Given the description of an element on the screen output the (x, y) to click on. 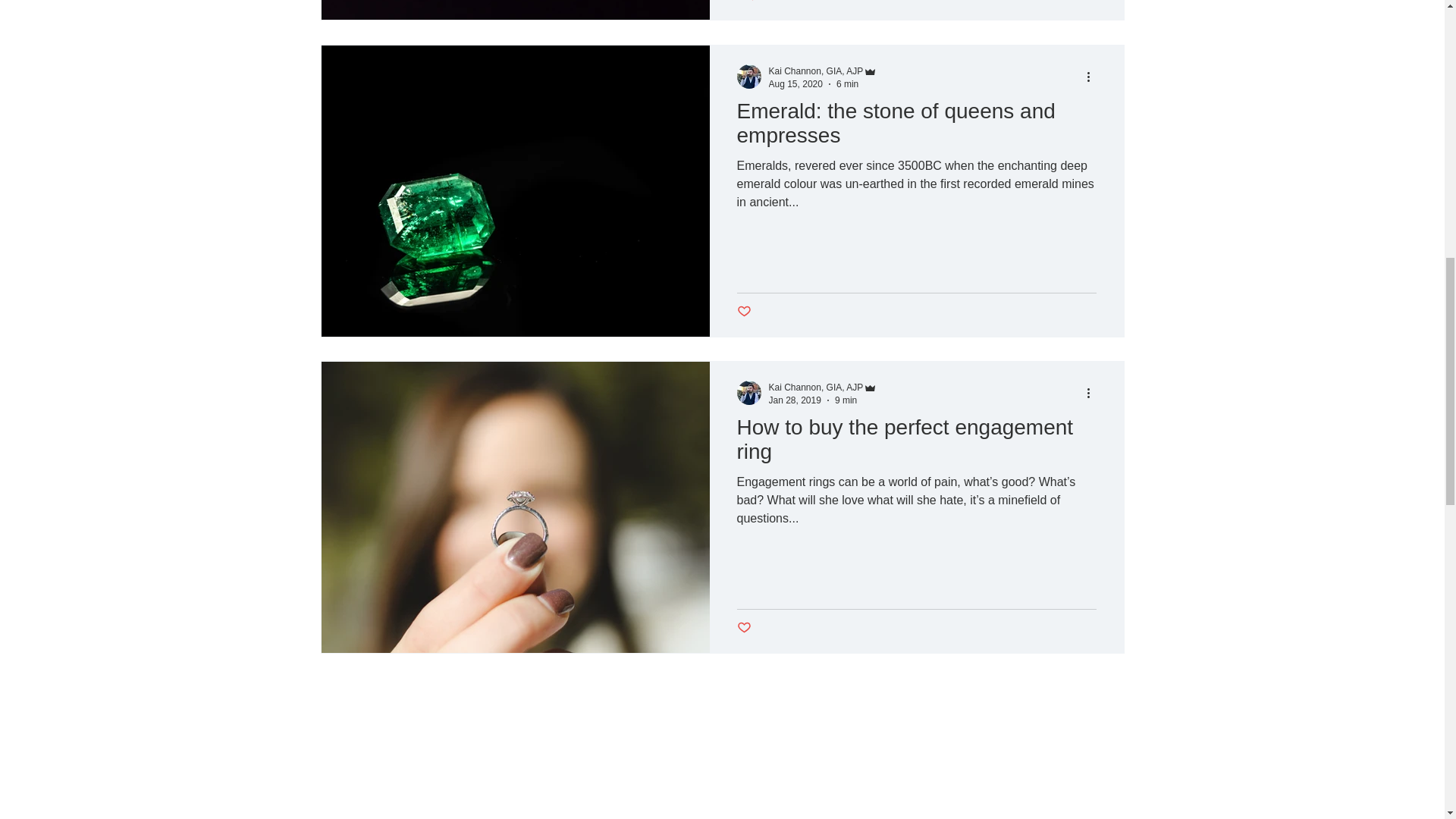
Kai Channon, GIA, AJP (822, 70)
Emerald: the stone of queens and empresses (916, 127)
9 min (845, 398)
Kai Channon, GIA, AJP (815, 387)
6 min (847, 83)
How to buy the perfect engagement ring (916, 443)
Kai Channon, GIA, AJP (815, 71)
Jan 28, 2019 (794, 398)
Kai Channon, GIA, AJP (822, 387)
